Given the description of an element on the screen output the (x, y) to click on. 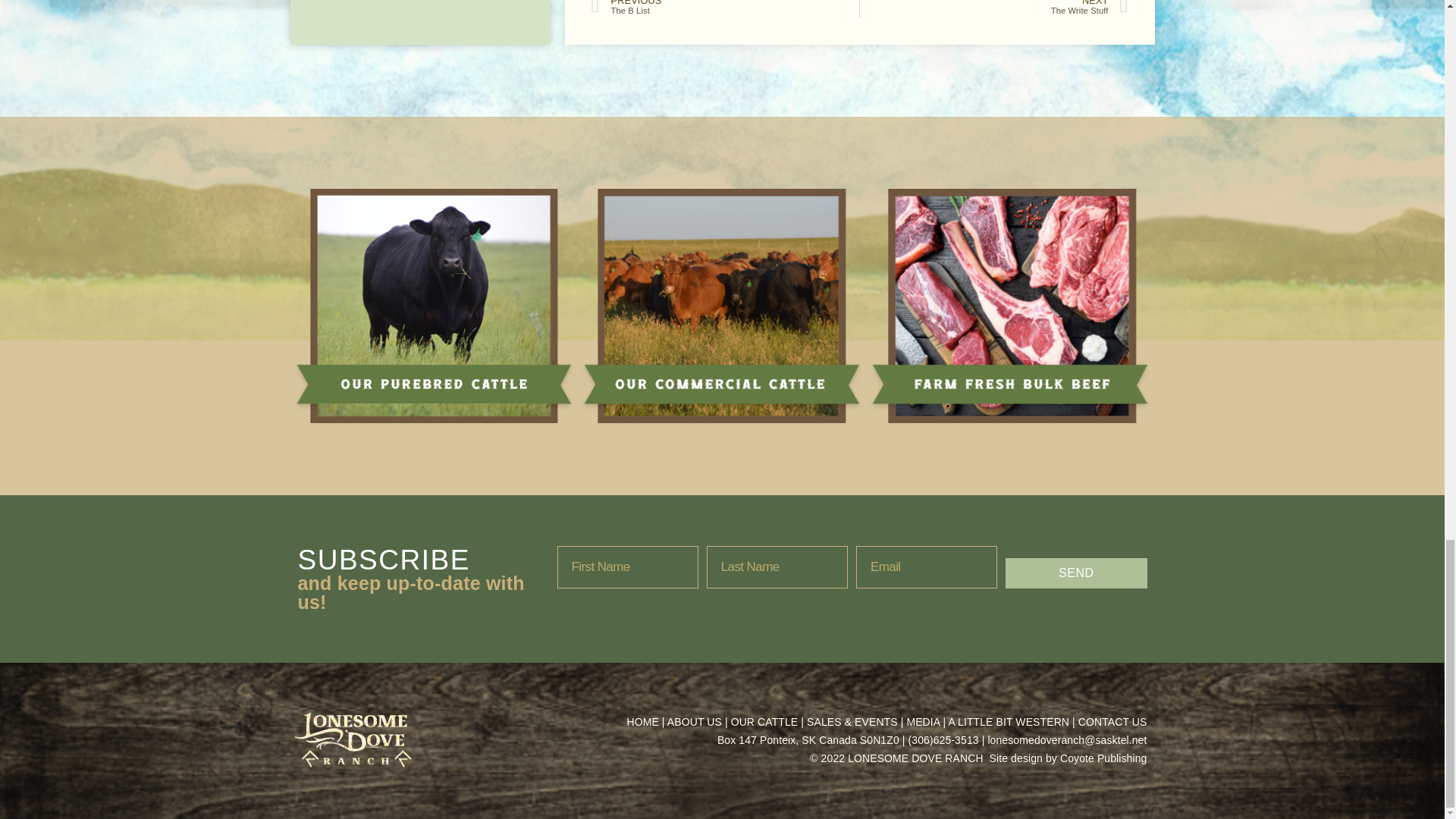
SEND (725, 9)
